Given the description of an element on the screen output the (x, y) to click on. 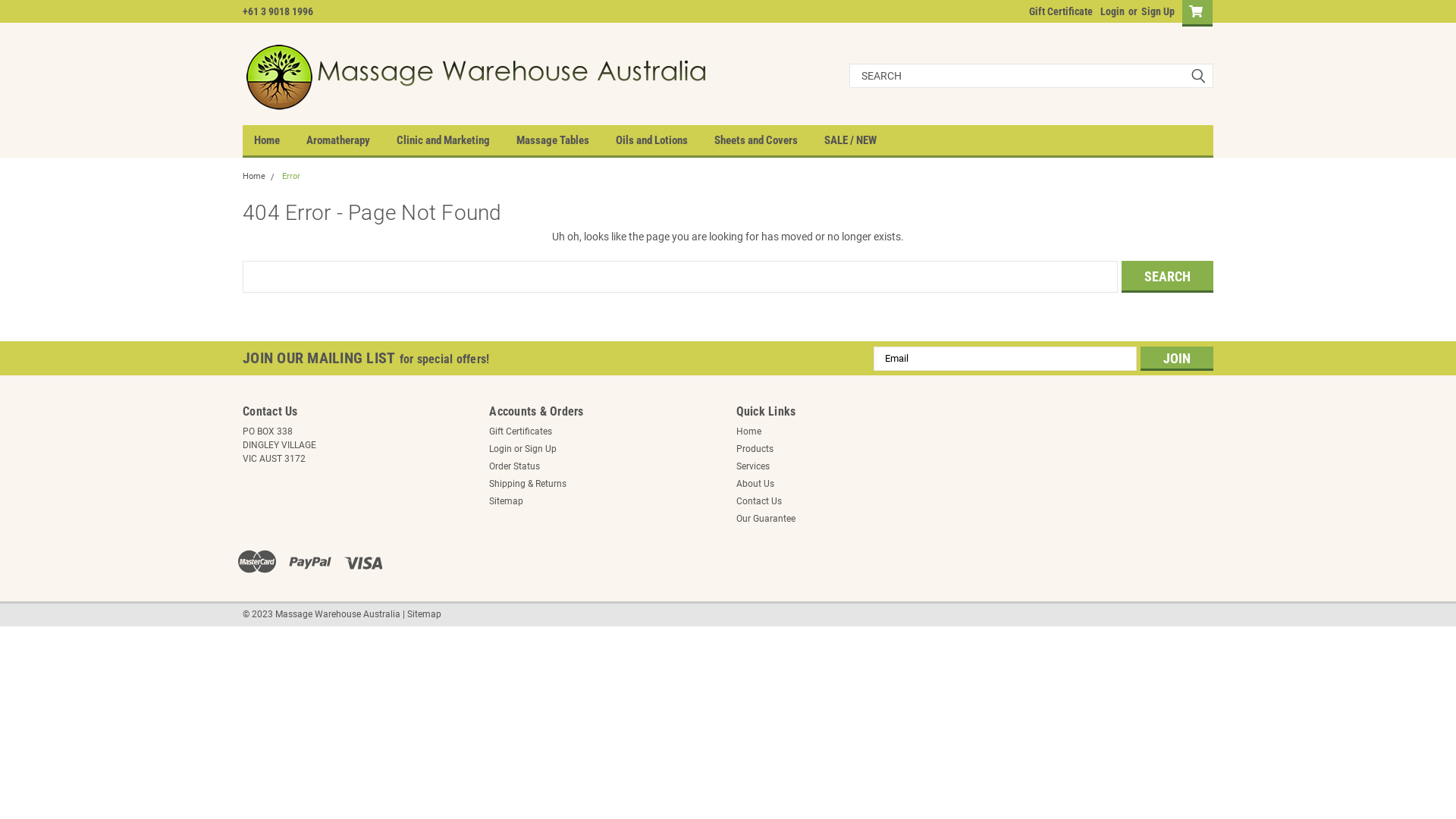
Sign Up Element type: text (1155, 11)
Products Element type: text (753, 448)
  Element type: hover (481, 75)
Login Element type: text (500, 448)
Sitemap Element type: text (424, 613)
Search Element type: text (1167, 276)
Login Element type: text (1112, 11)
Our Guarantee Element type: text (764, 517)
Home Element type: text (747, 431)
SALE / NEW Element type: text (863, 140)
Aromatherapy Element type: text (351, 140)
Join Element type: text (1176, 357)
Error Element type: text (291, 176)
submit Element type: hover (1197, 75)
Shipping & Returns Element type: text (527, 482)
Oils and Lotions Element type: text (664, 140)
Sheets and Covers Element type: text (769, 140)
Services Element type: text (751, 466)
Gift Certificates Element type: text (520, 431)
Massage Tables Element type: text (565, 140)
Sitemap Element type: text (506, 501)
Home Element type: text (253, 176)
Order Status Element type: text (514, 466)
Clinic and Marketing Element type: text (456, 140)
Sign Up Element type: text (540, 448)
Home Element type: text (280, 140)
Gift Certificate Element type: text (1056, 11)
About Us Element type: text (754, 482)
Contact Us Element type: text (758, 501)
